Given the description of an element on the screen output the (x, y) to click on. 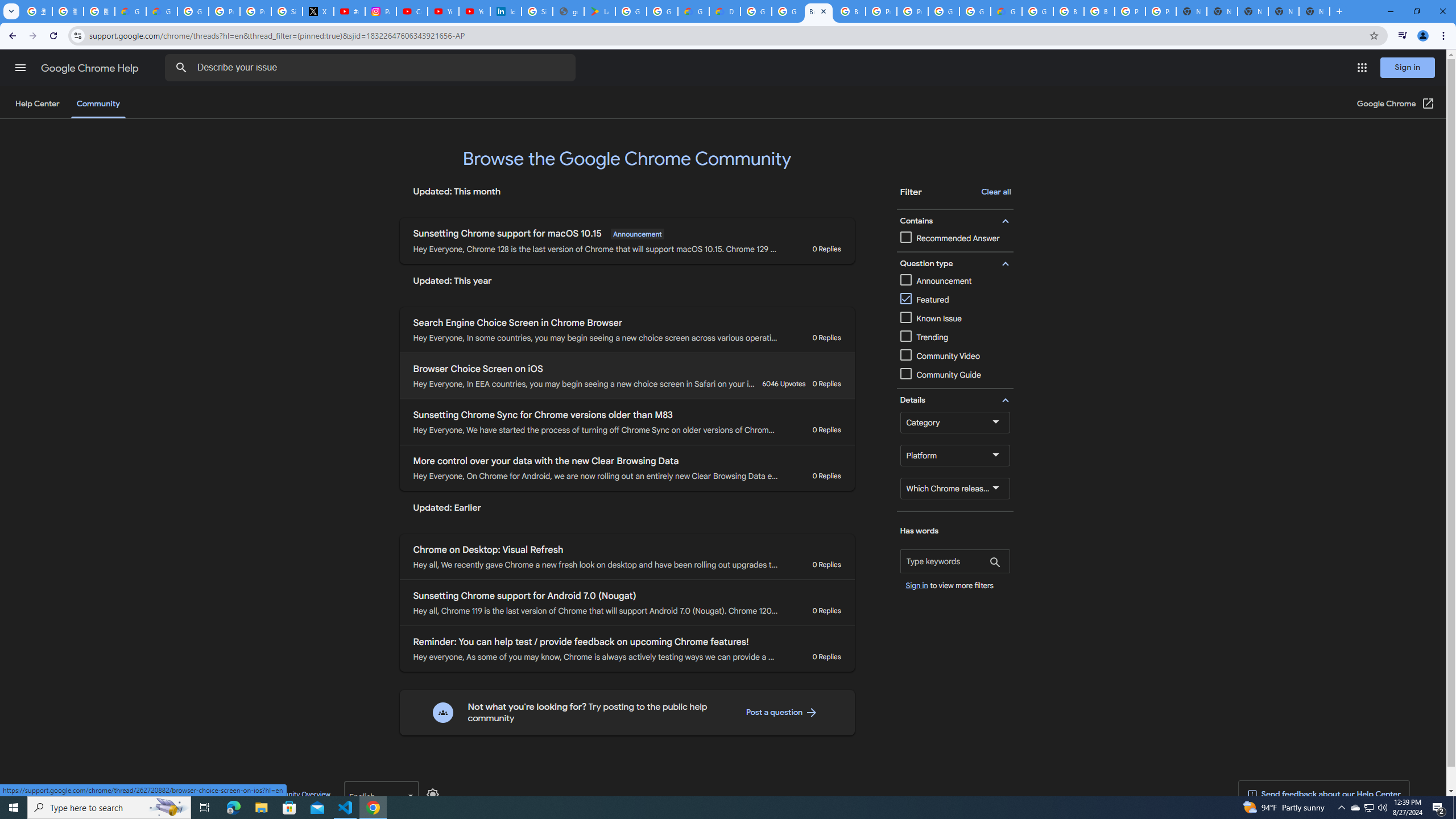
Google Cloud Privacy Notice (161, 11)
Community Video (954, 355)
Control your music, videos, and more (1402, 35)
Google Workspace - Specific Terms (662, 11)
